Given the description of an element on the screen output the (x, y) to click on. 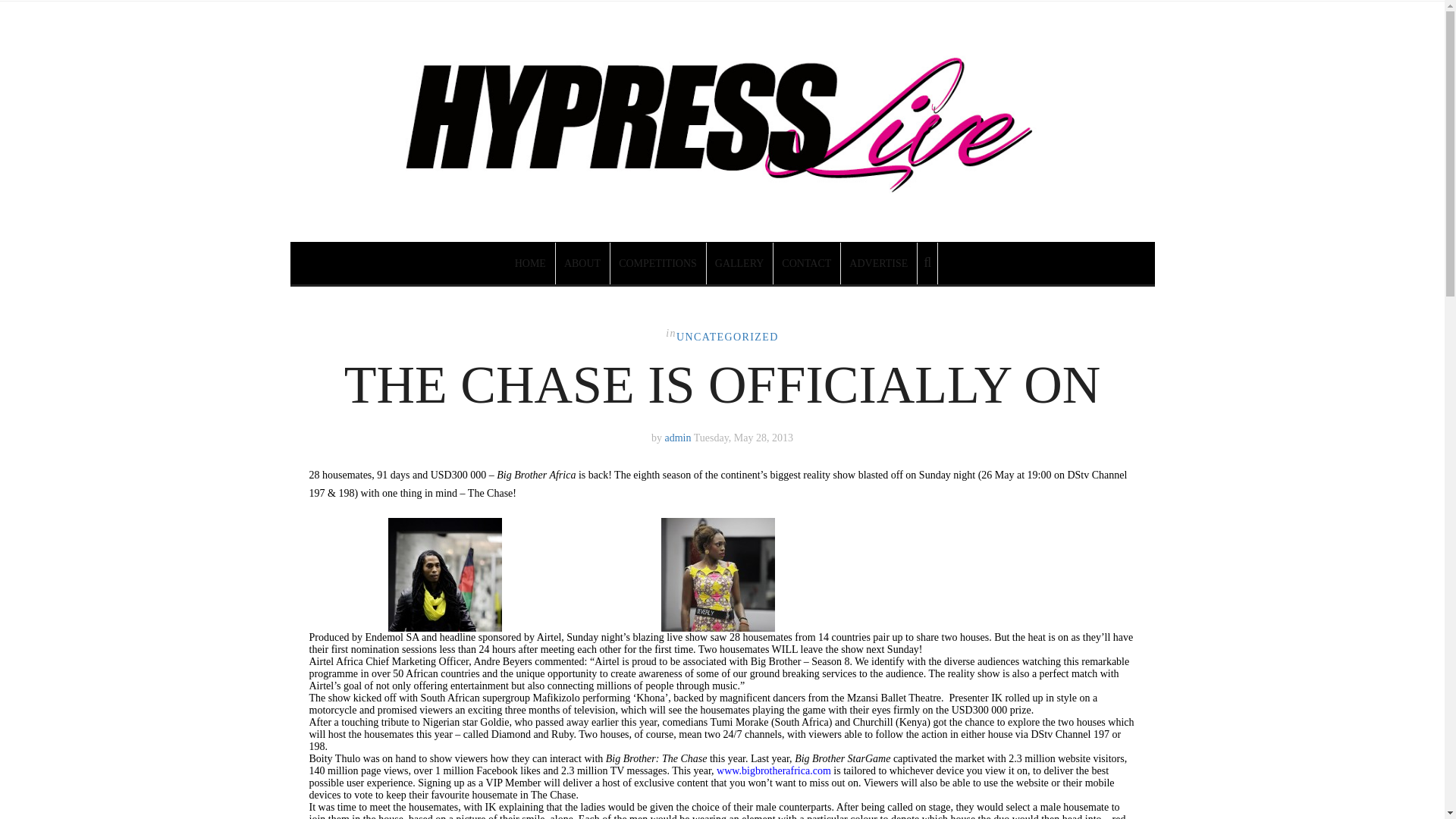
ABOUT (583, 263)
GALLERY (740, 263)
CONTACT (807, 263)
Posts by admin (678, 437)
admin (678, 437)
HOME (531, 263)
www.bigbrotherafrica.com (773, 770)
ADVERTISE (879, 263)
COMPETITIONS (658, 263)
UNCATEGORIZED (727, 337)
